Given the description of an element on the screen output the (x, y) to click on. 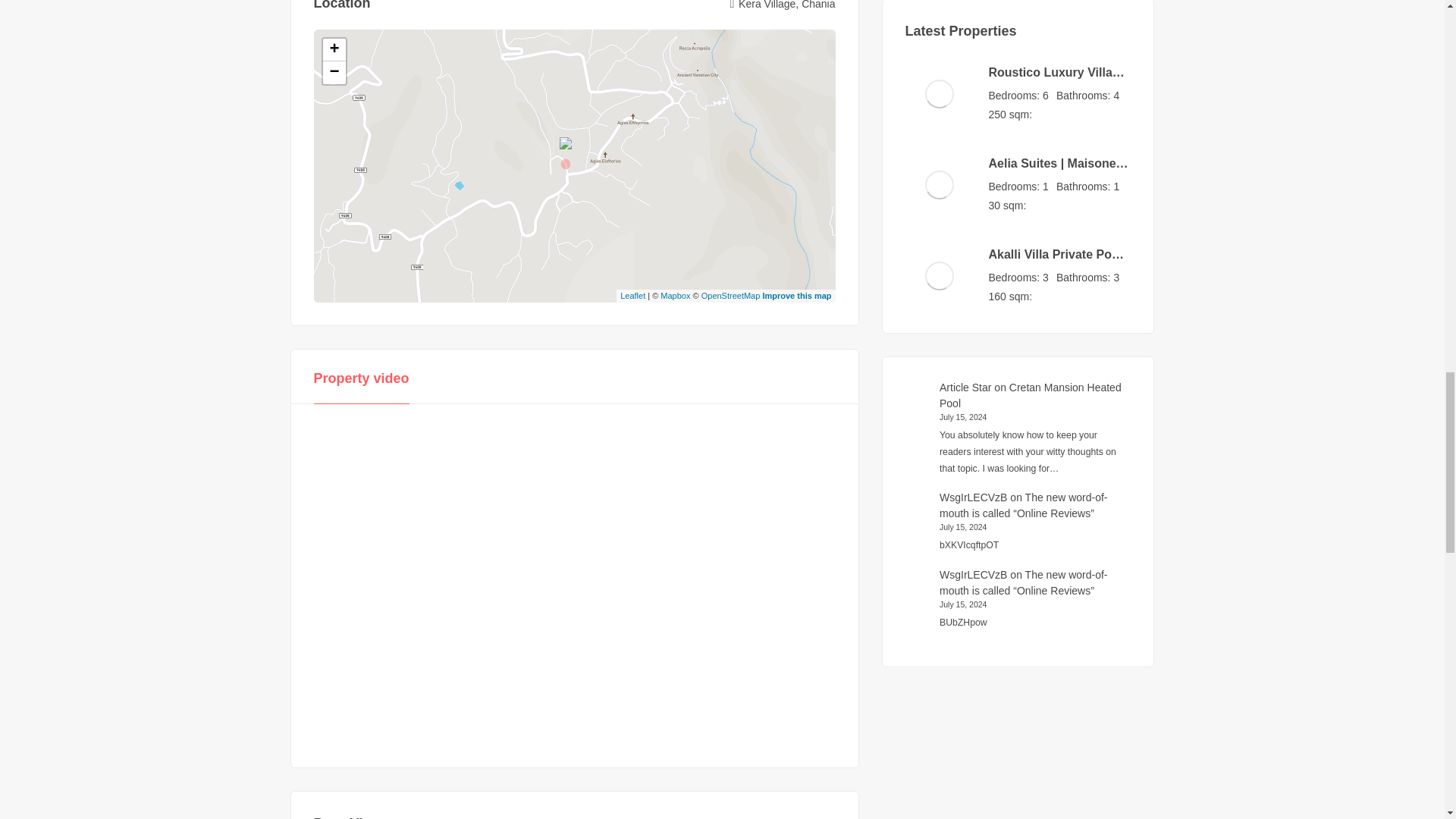
Zoom out (334, 72)
Zoom in (334, 49)
A JS library for interactive maps (632, 295)
